Given the description of an element on the screen output the (x, y) to click on. 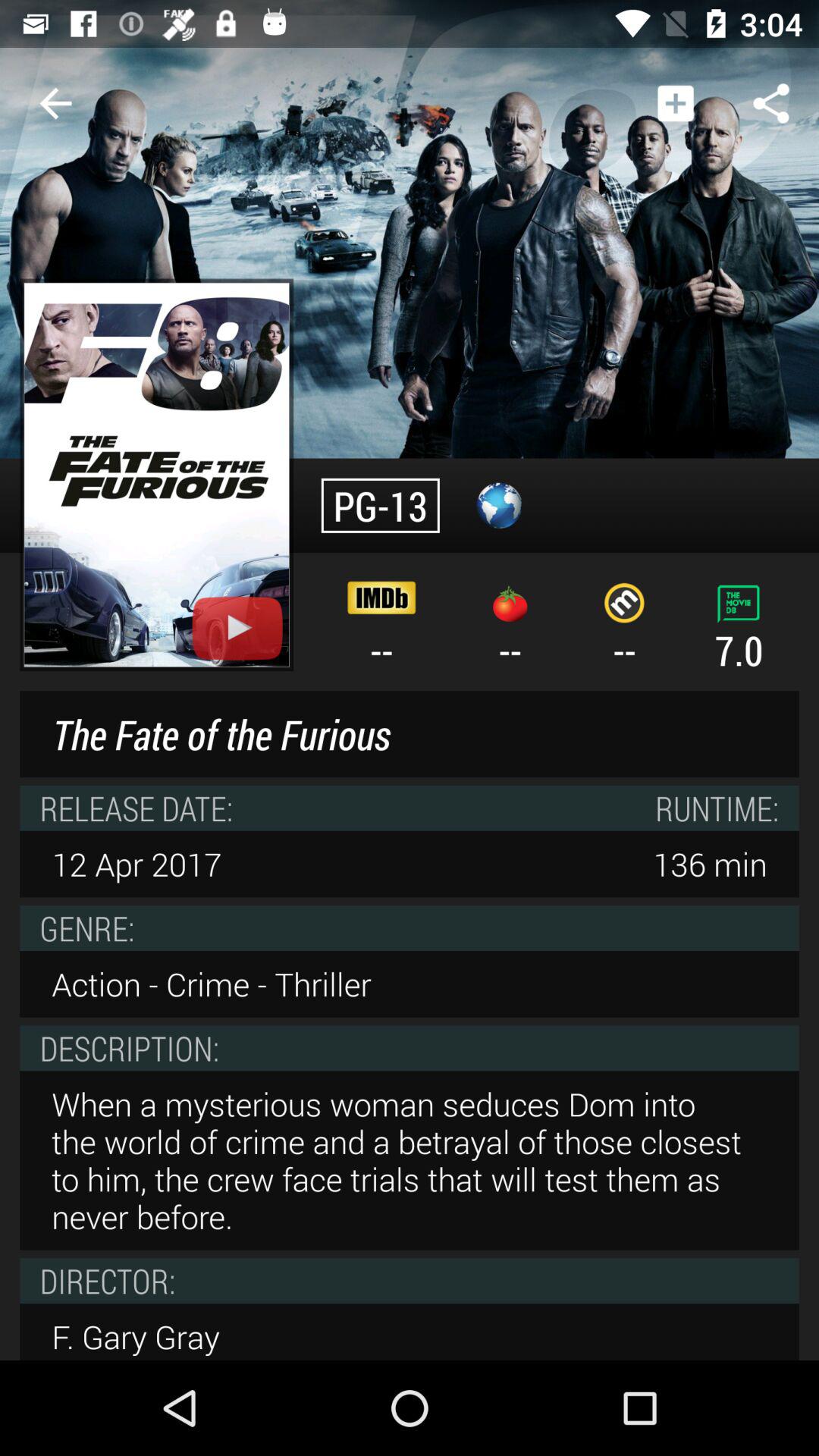
select item to the right of pg-13 item (499, 505)
